Given the description of an element on the screen output the (x, y) to click on. 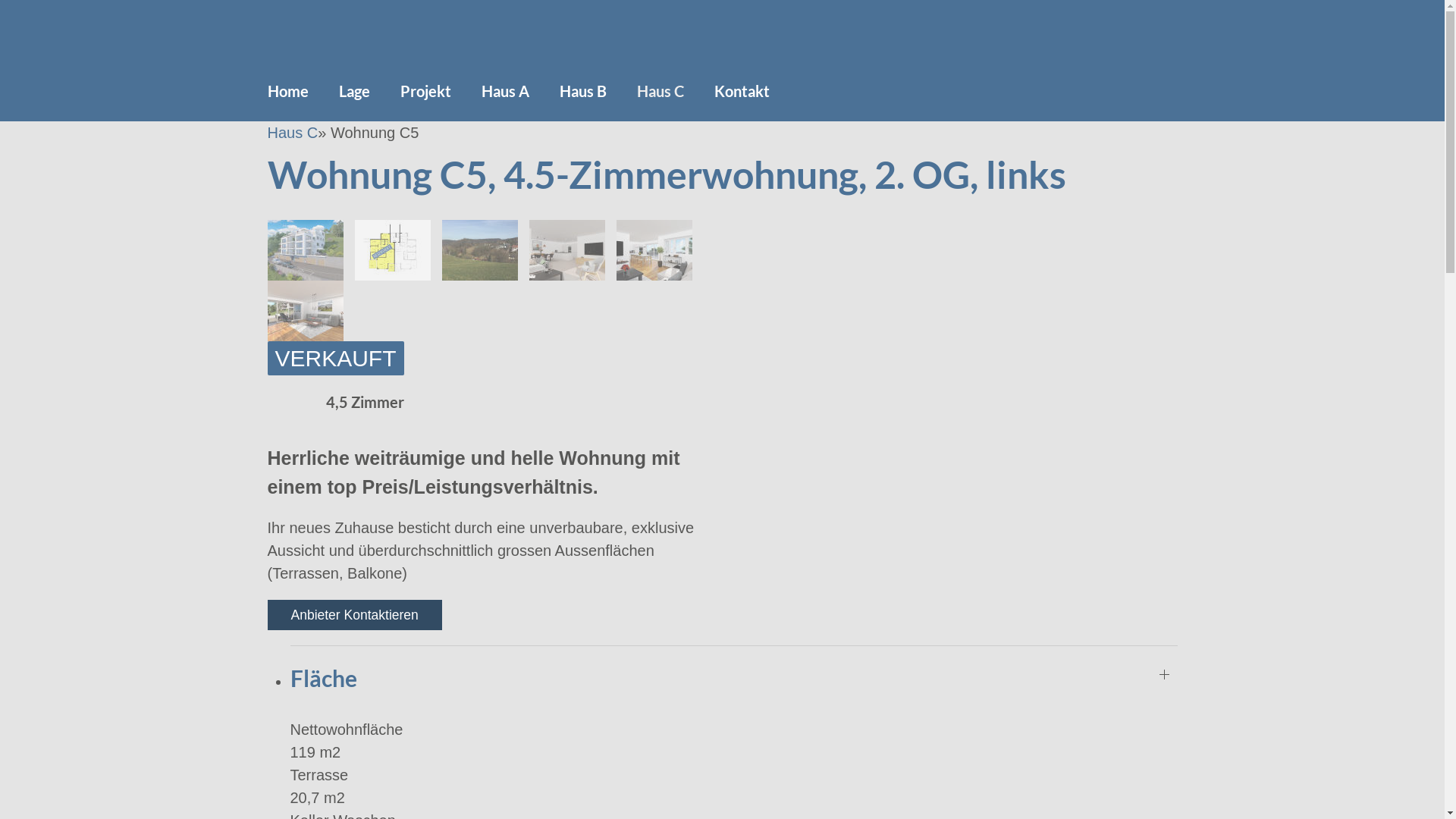
Projekt Element type: text (425, 90)
Lage Element type: text (353, 90)
Haus C Element type: text (291, 132)
Haus A Element type: text (504, 90)
Haus C Element type: text (660, 90)
Kontakt Element type: text (734, 90)
Anbieter Kontaktieren Element type: text (353, 614)
Haus B Element type: text (582, 90)
Home Element type: text (294, 90)
